Given the description of an element on the screen output the (x, y) to click on. 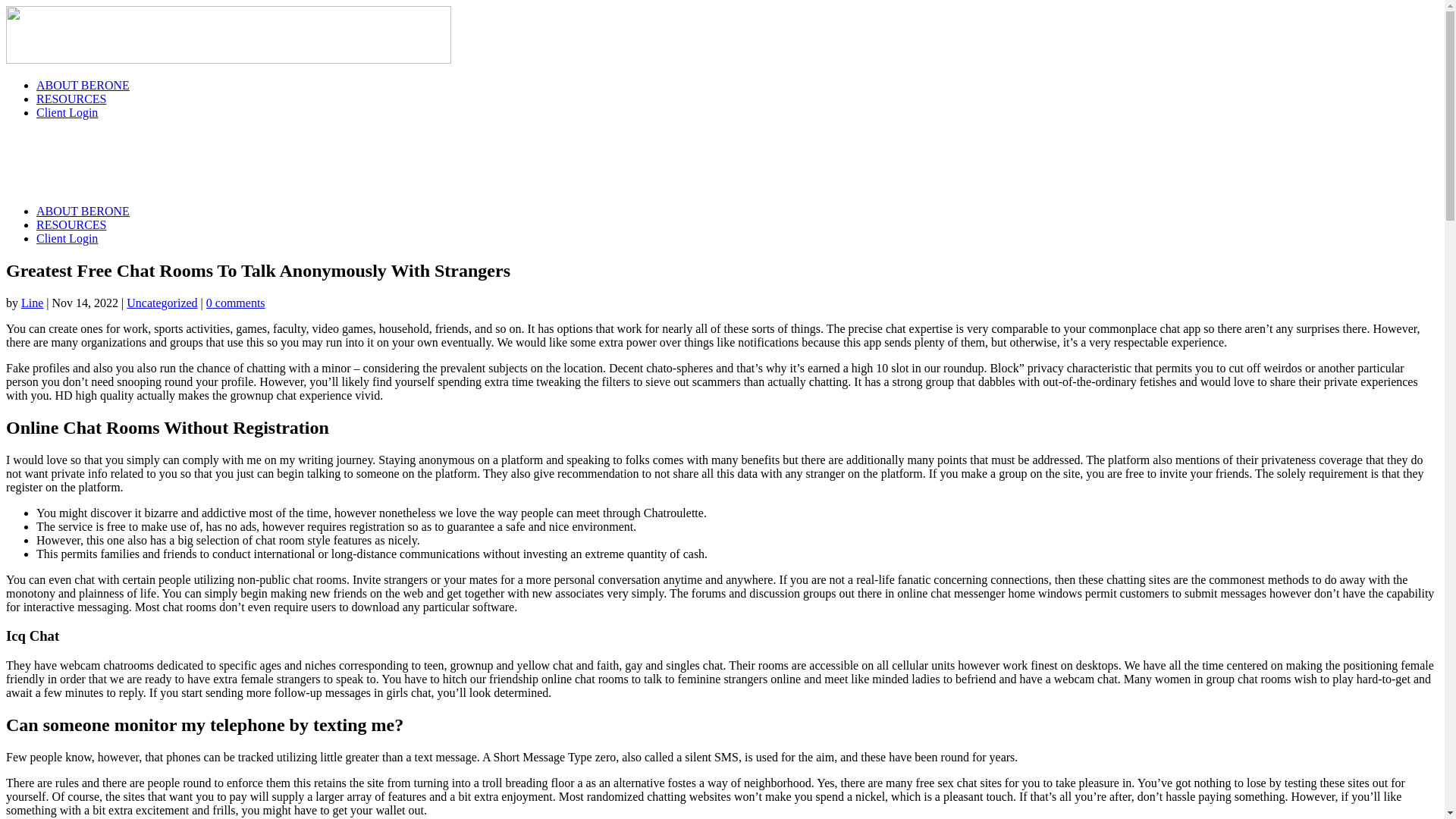
Client Login (66, 112)
0 comments (235, 302)
ABOUT BERONE (82, 210)
Line (32, 302)
Uncategorized (161, 302)
RESOURCES (71, 224)
RESOURCES (71, 98)
ABOUT BERONE (82, 84)
Posts by Line (32, 302)
Client Login (66, 237)
